Given the description of an element on the screen output the (x, y) to click on. 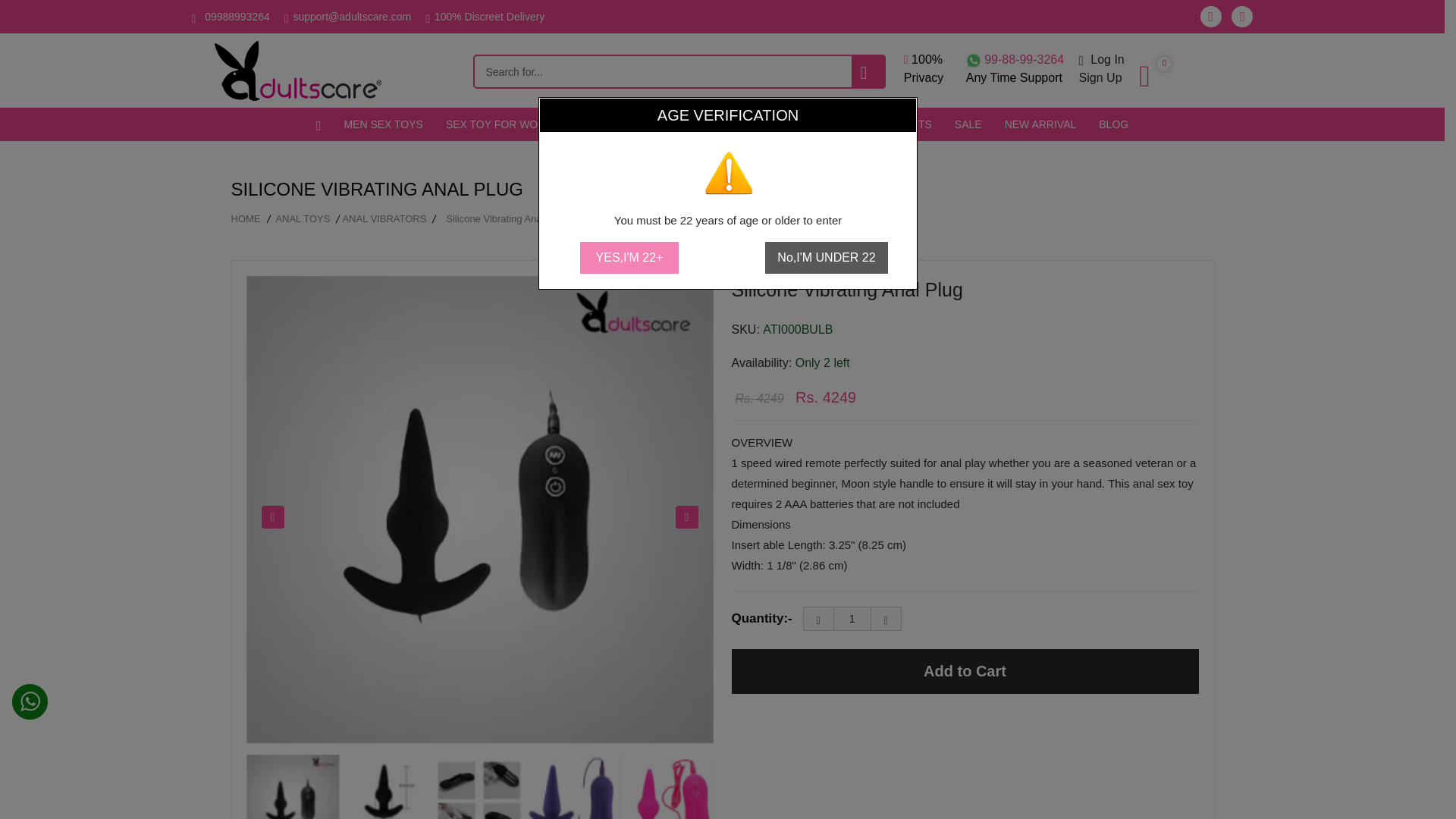
Search (868, 71)
MEN SEX TOYS (382, 123)
BDSM (599, 123)
0 (1144, 77)
Sign Up (1015, 68)
Log In (1100, 77)
09988993264 (1101, 59)
1 (237, 16)
SEX TOY FOR WOMEN (852, 618)
